Given the description of an element on the screen output the (x, y) to click on. 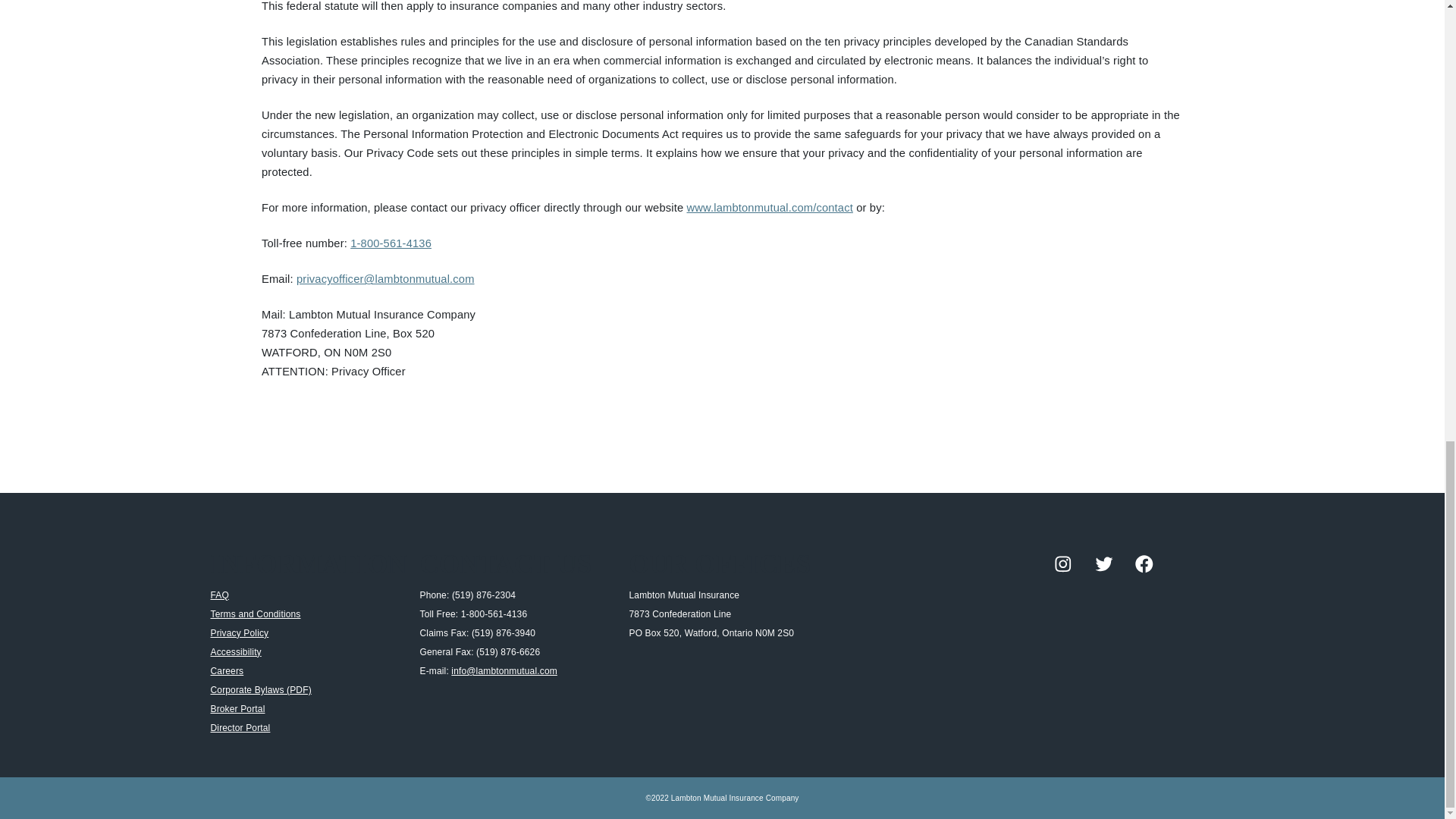
Accessibility (236, 652)
1-800-561-4136 (390, 243)
Privacy Policy (240, 633)
FAQ (219, 594)
Terms and Conditions (256, 614)
